Given the description of an element on the screen output the (x, y) to click on. 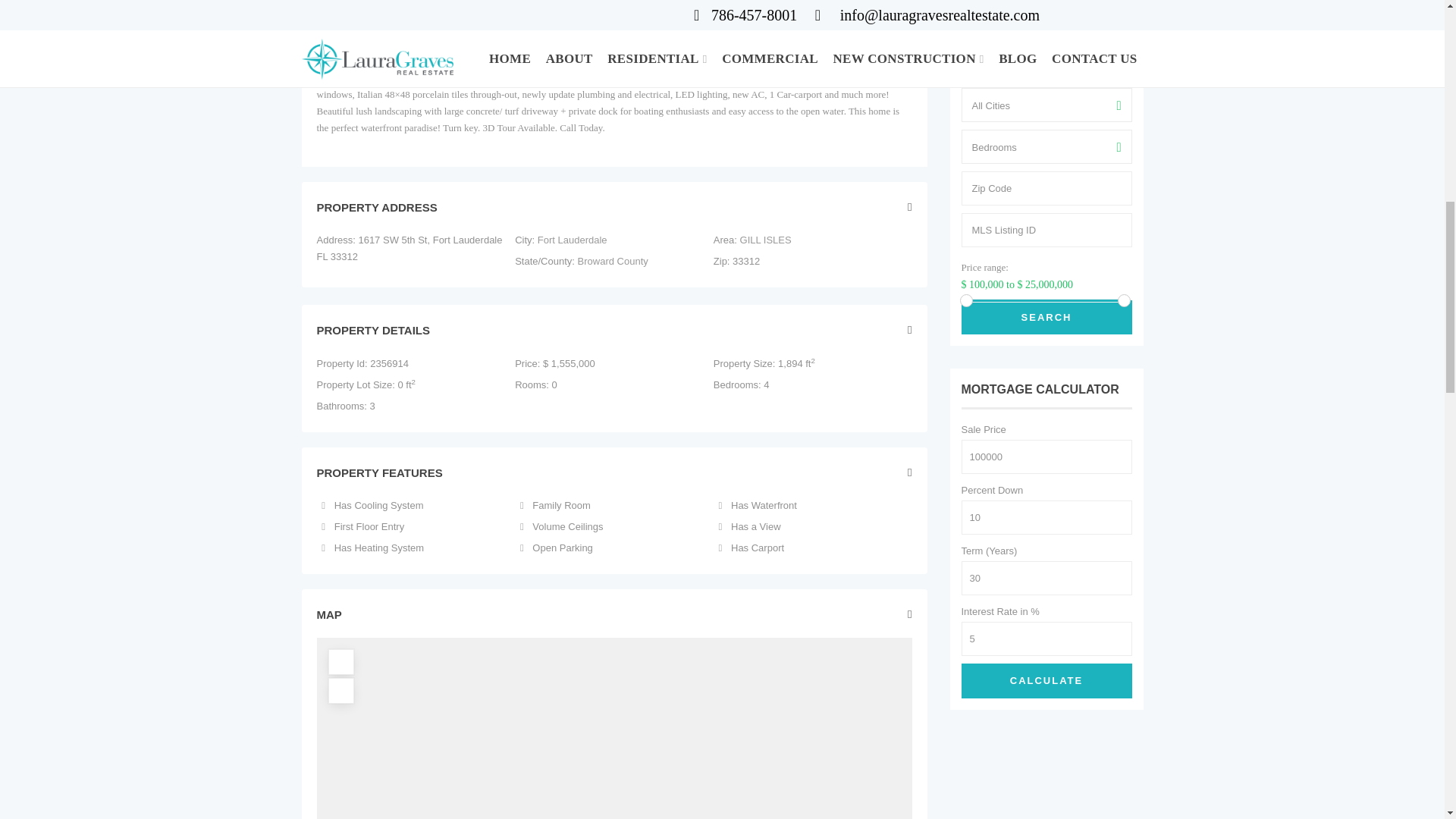
100000 (1046, 456)
10 (1046, 517)
5 (1046, 638)
30 (1046, 578)
